Given the description of an element on the screen output the (x, y) to click on. 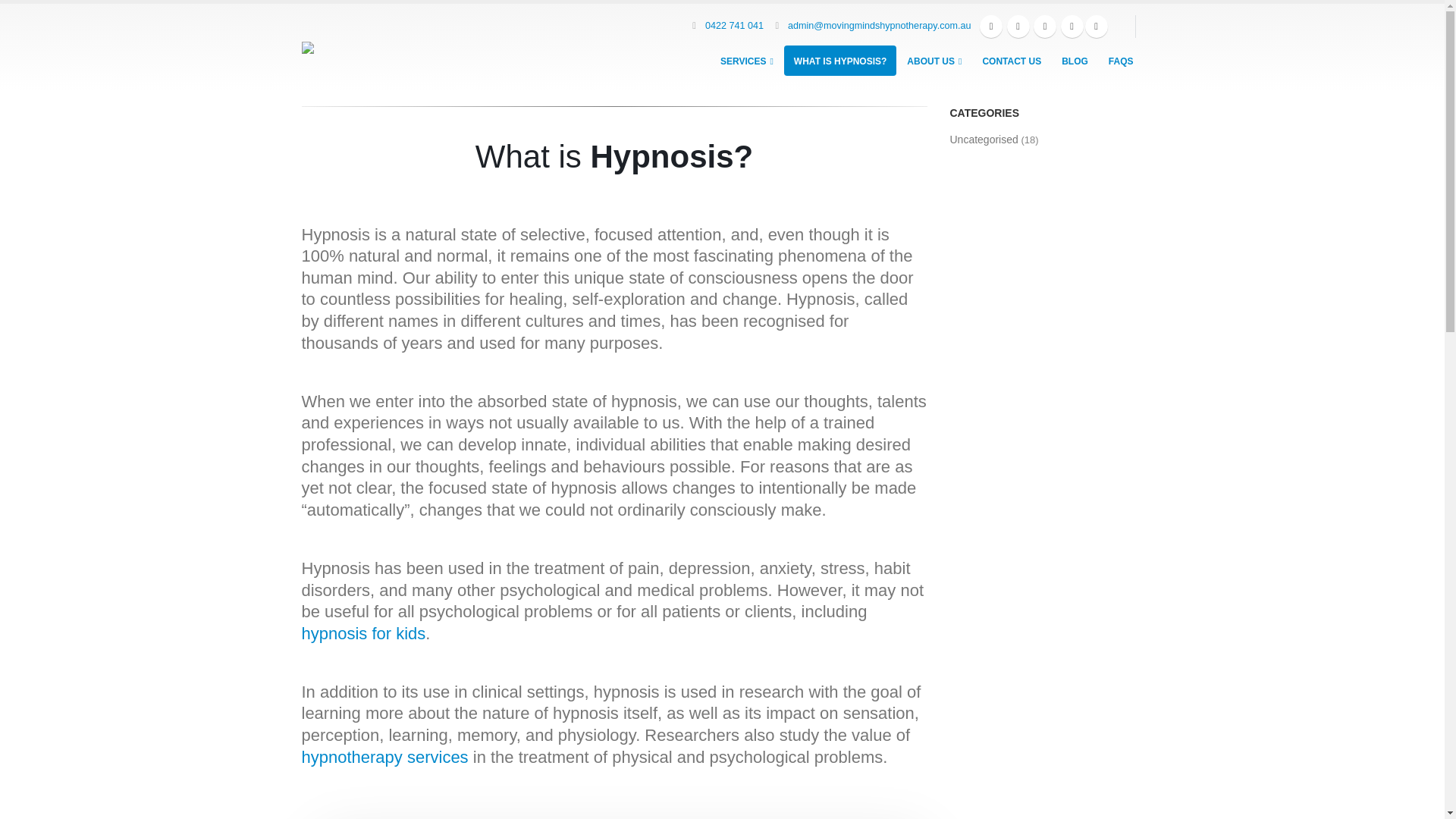
FAQS Element type: text (1120, 60)
ABOUT US Element type: text (934, 60)
0422 741 041 Element type: text (734, 25)
Twitter Element type: hover (1044, 26)
Pinterest Element type: hover (1071, 26)
LinkedIn Element type: hover (1018, 26)
BLOG Element type: text (1074, 60)
CONTACT US Element type: text (1011, 60)
WHAT IS HYPNOSIS? Element type: text (840, 60)
hypnotherapy services Element type: text (384, 756)
Uncategorised Element type: text (983, 139)
Instagram Element type: hover (1095, 26)
admin@movingmindshypnotherapy.com.au Element type: text (878, 25)
Facebook Element type: hover (990, 26)
hypnosis for kids Element type: text (363, 633)
SERVICES Element type: text (746, 60)
